Given the description of an element on the screen output the (x, y) to click on. 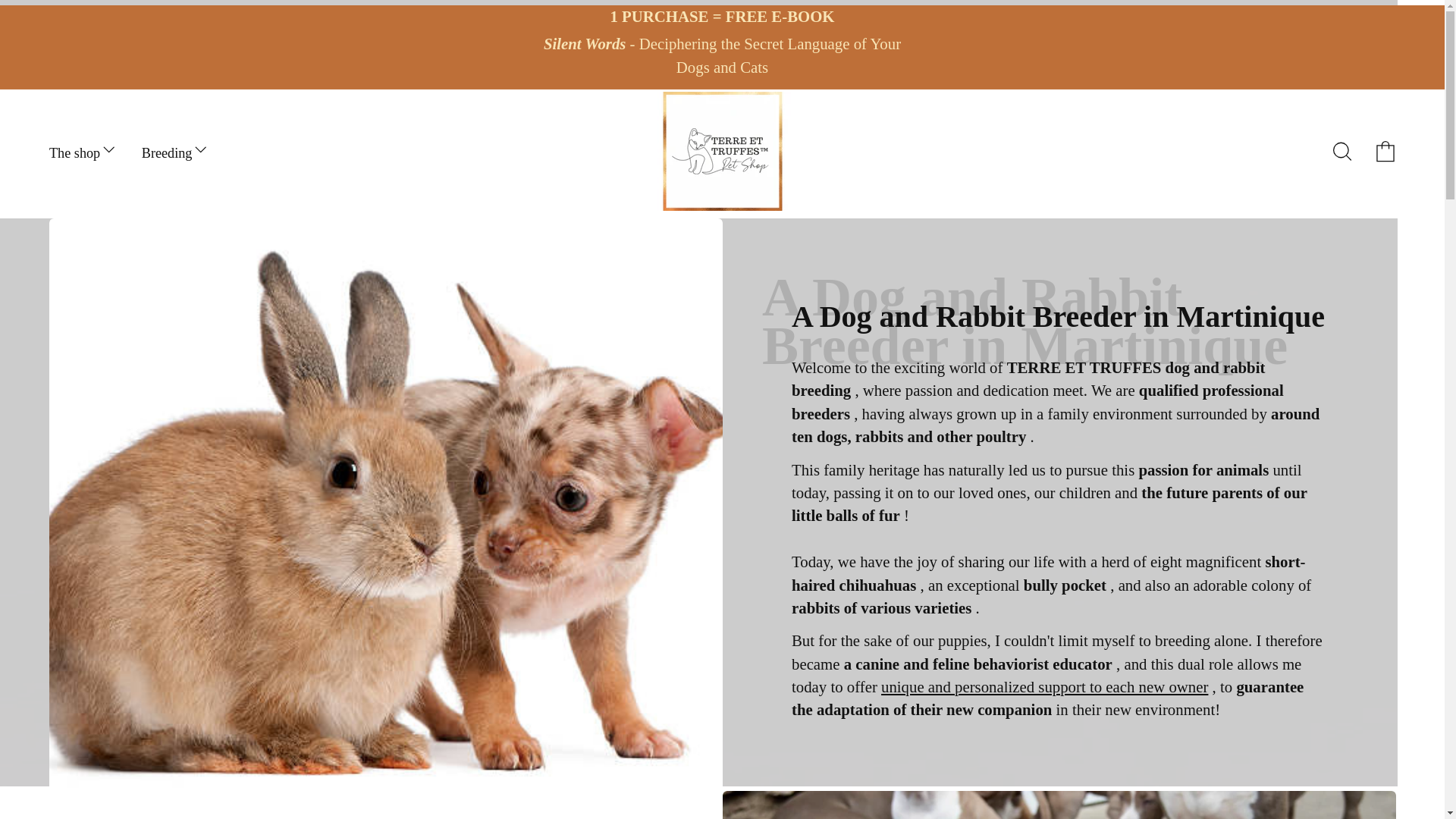
Cart (1384, 150)
Skip to content (59, 22)
